Given the description of an element on the screen output the (x, y) to click on. 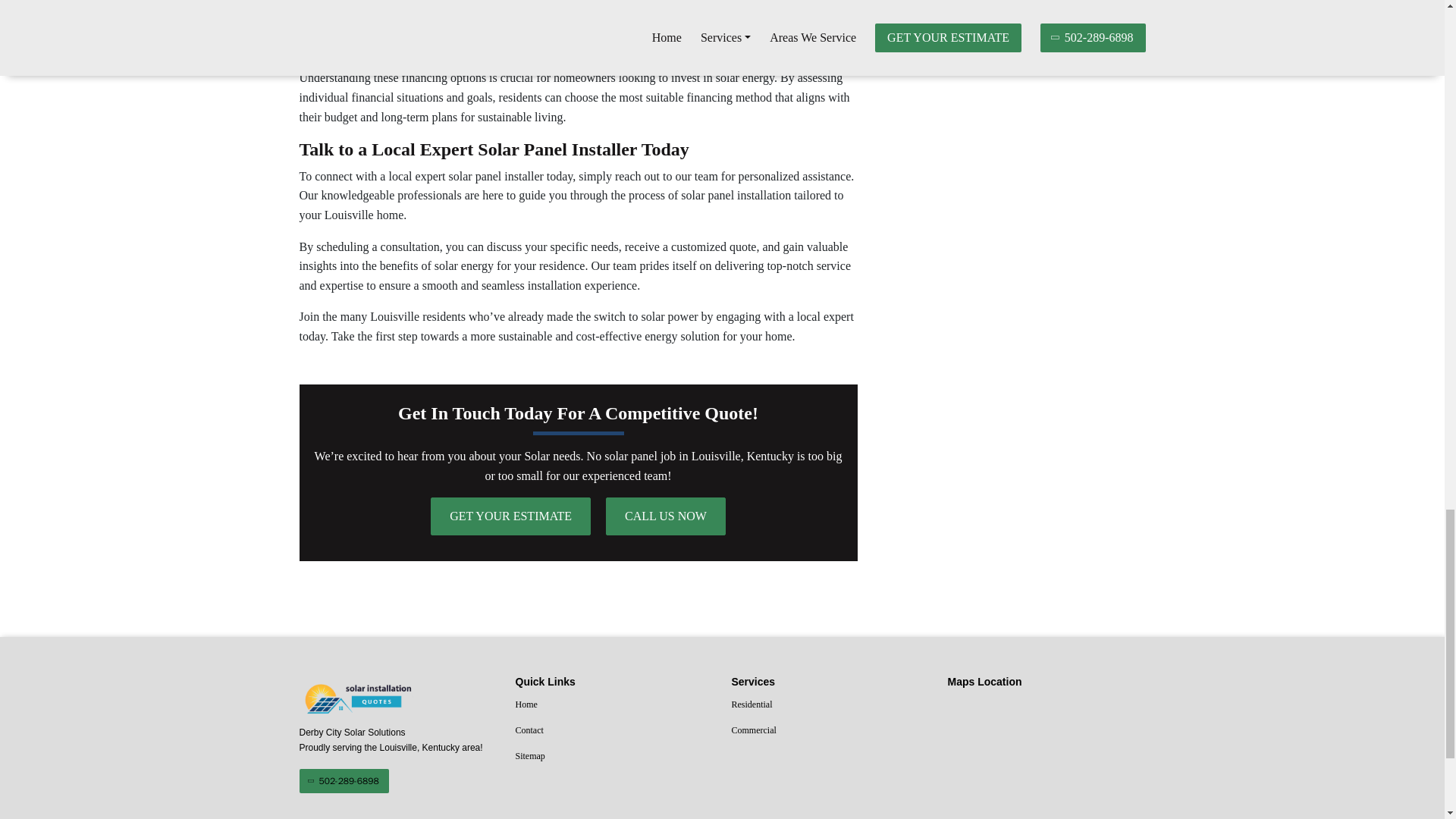
Sitemap (614, 756)
Contact (614, 731)
Residential (829, 704)
CALL US NOW (665, 516)
Home (614, 704)
GET YOUR ESTIMATE (510, 516)
Commercial (829, 731)
502-289-6898 (343, 781)
